Given the description of an element on the screen output the (x, y) to click on. 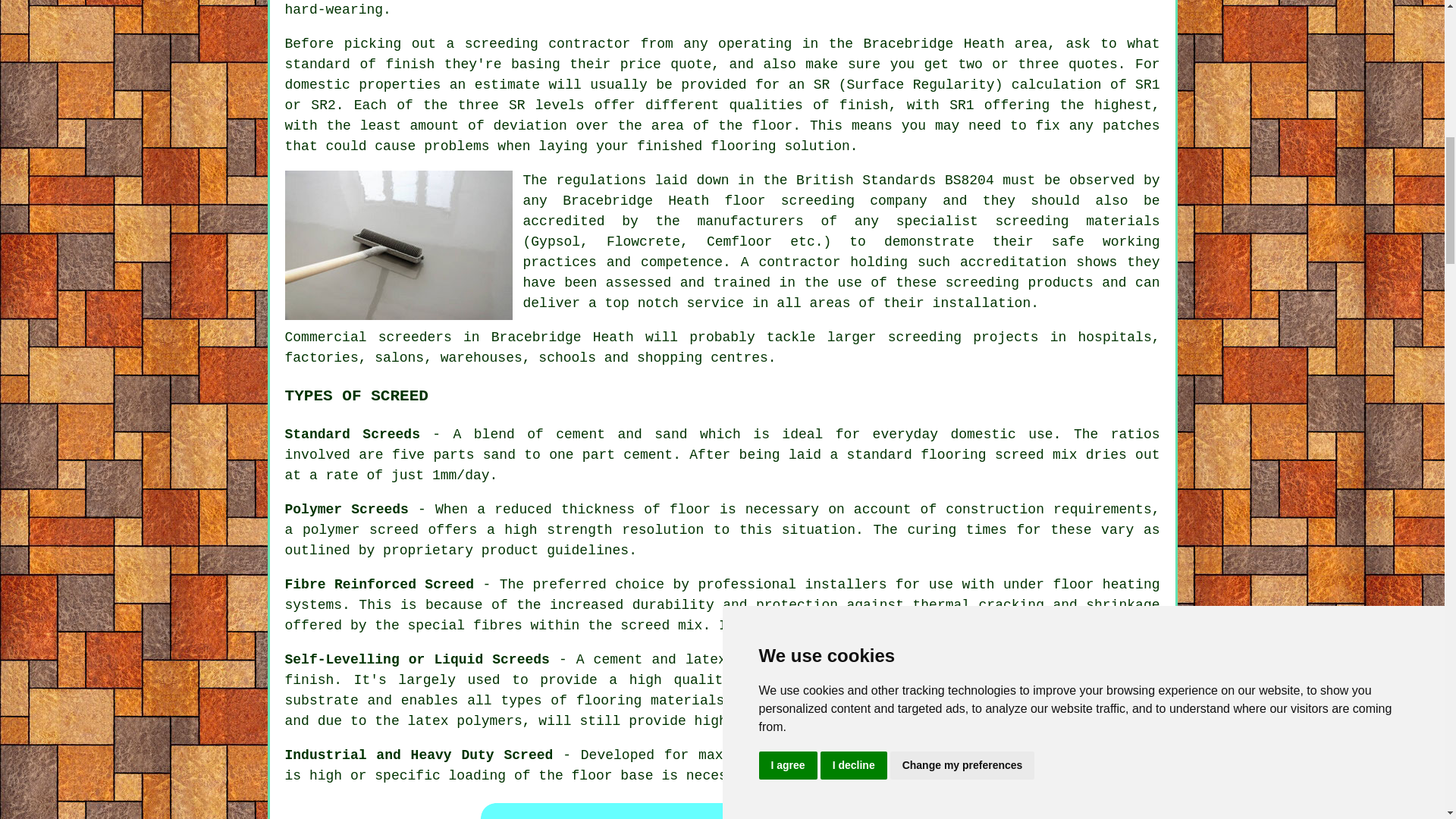
polymer screed (360, 529)
flooring screed (981, 454)
Screeding Quotes Bracebridge Heath Lincolnshire (722, 809)
screeding (501, 43)
latex polymers (464, 720)
screeders (414, 337)
